Given the description of an element on the screen output the (x, y) to click on. 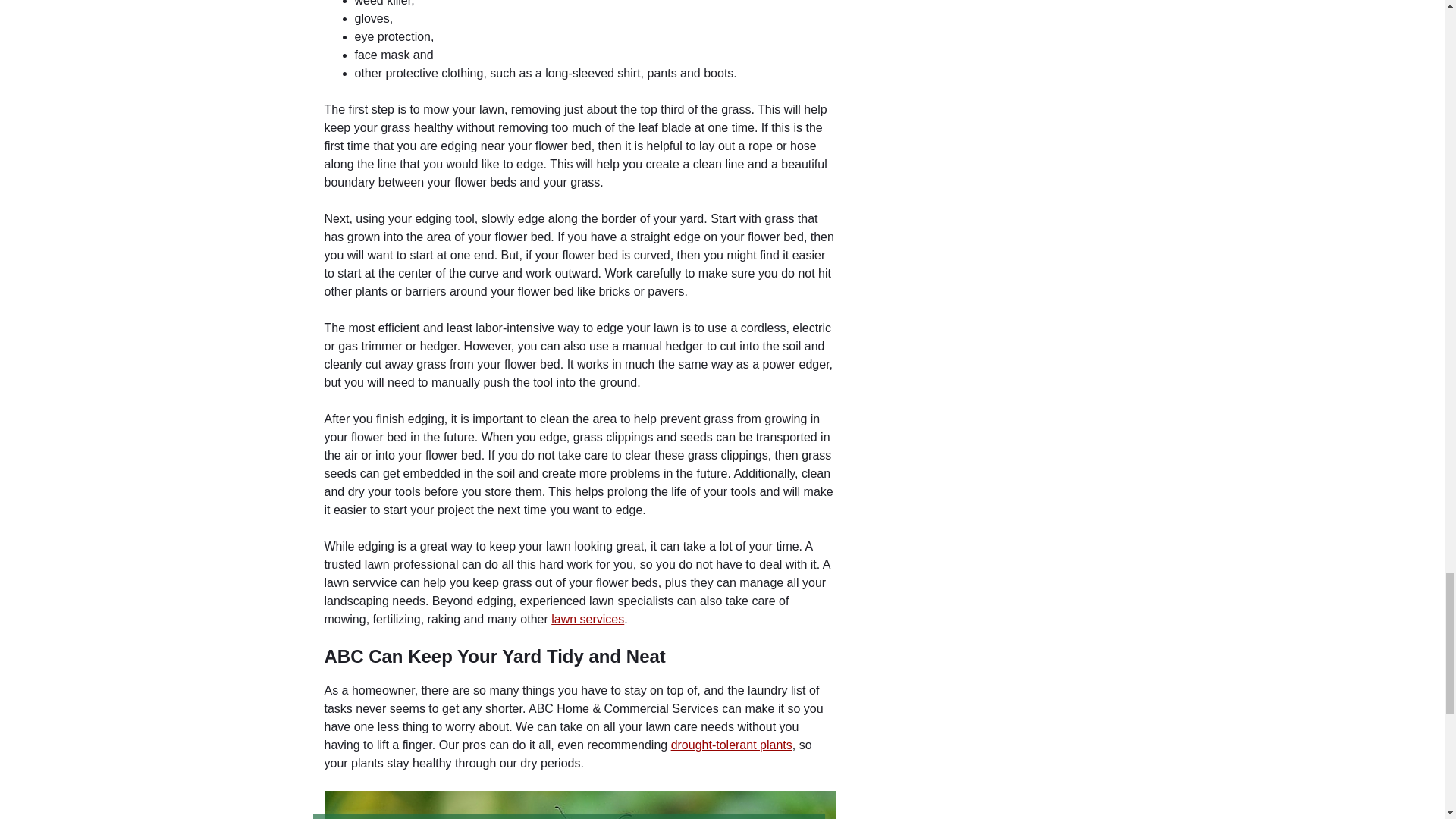
drought-tolerant plants (731, 744)
lawn services (587, 618)
